Given the description of an element on the screen output the (x, y) to click on. 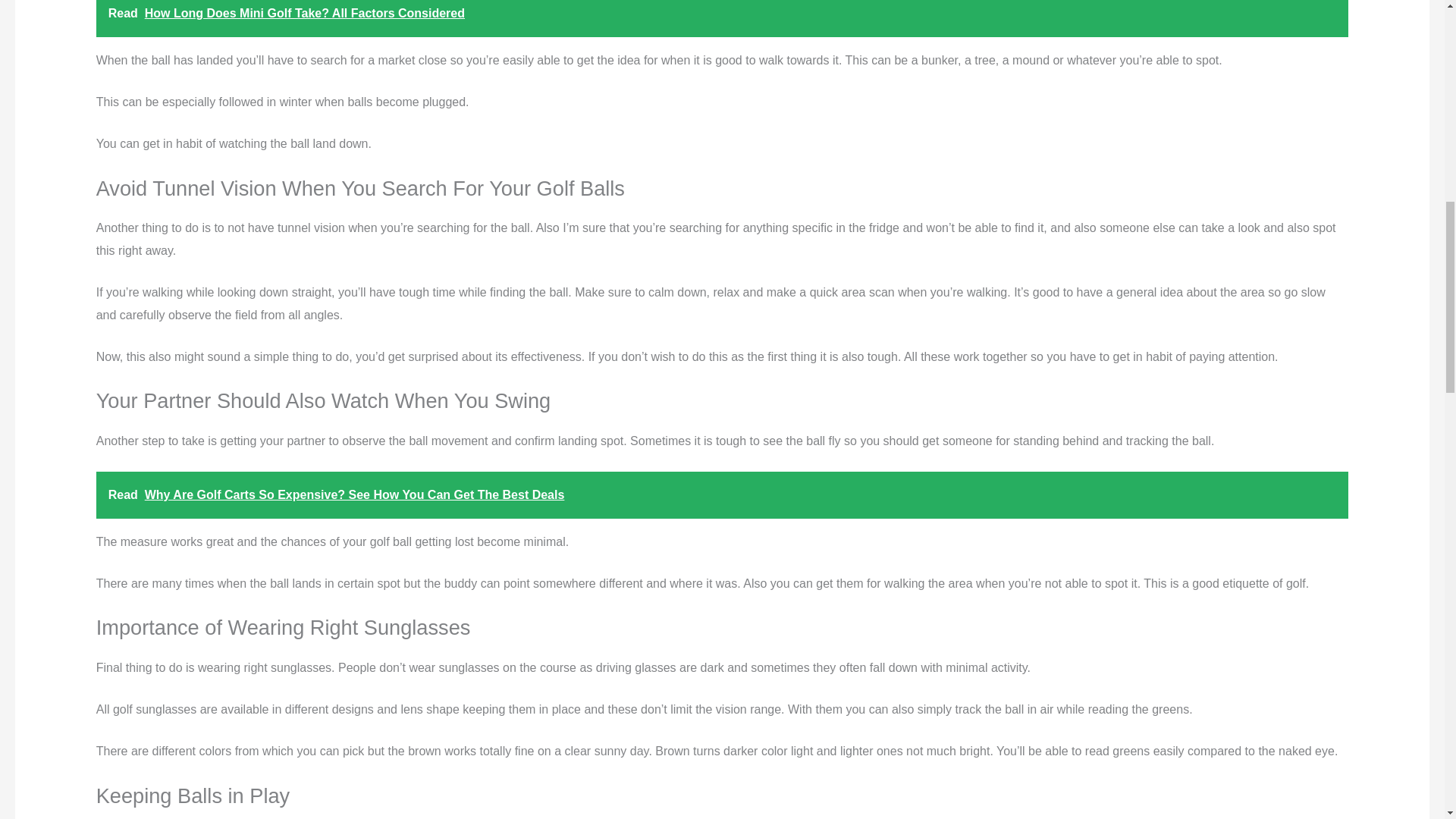
Read  How Long Does Mini Golf Take? All Factors Considered (722, 18)
